Given the description of an element on the screen output the (x, y) to click on. 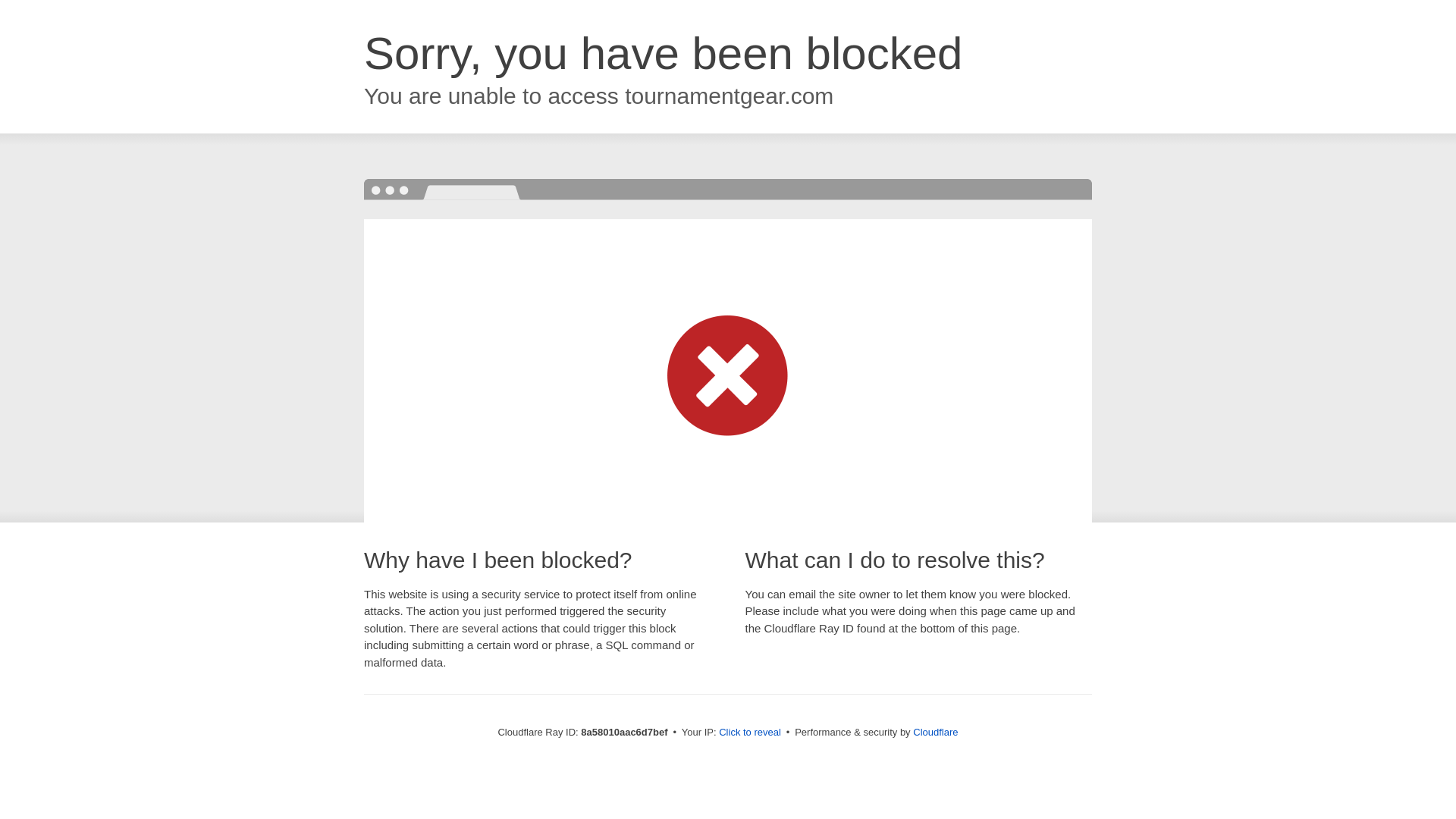
Cloudflare (935, 731)
Click to reveal (749, 732)
